Given the description of an element on the screen output the (x, y) to click on. 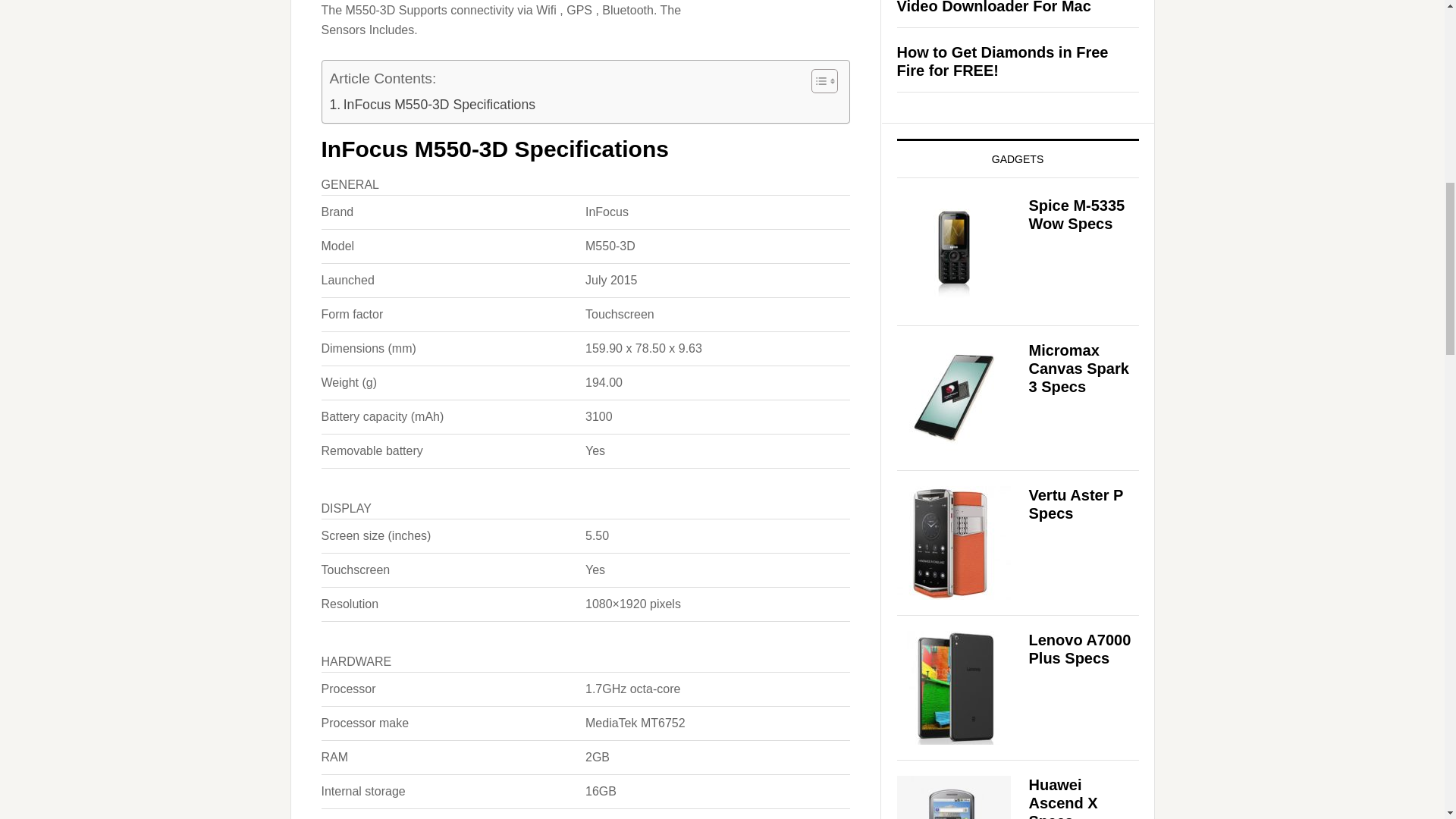
VideoDuke Review: An Ultimate Video Downloader For Mac (1010, 7)
InFocus M550-3D Specifications (431, 104)
InFocus M550-3D Specifications (431, 104)
How to Get Diamonds in Free Fire for FREE! (1002, 61)
Spice M-5335 Wow Specs (1075, 214)
